Given the description of an element on the screen output the (x, y) to click on. 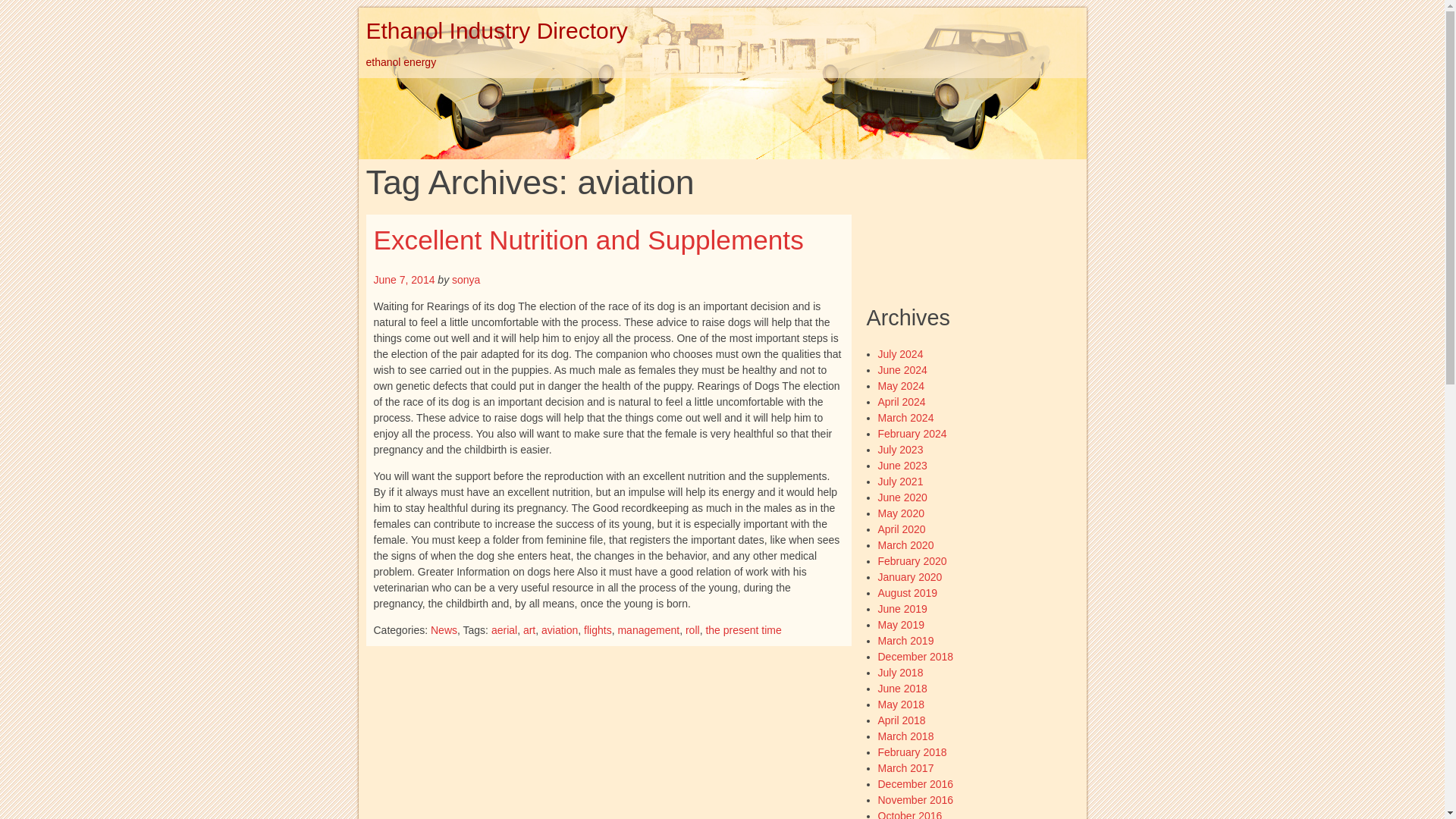
flights (597, 630)
aerial (504, 630)
February 2024 (912, 433)
January 2020 (909, 576)
June 2020 (902, 497)
June 2024 (902, 369)
February 2020 (912, 561)
December 2018 (915, 656)
July 2018 (900, 672)
April 2024 (901, 401)
February 2018 (912, 752)
June 2019 (902, 608)
May 2024 (900, 386)
Excellent Nutrition and Supplements (587, 239)
April 2020 (901, 529)
